Given the description of an element on the screen output the (x, y) to click on. 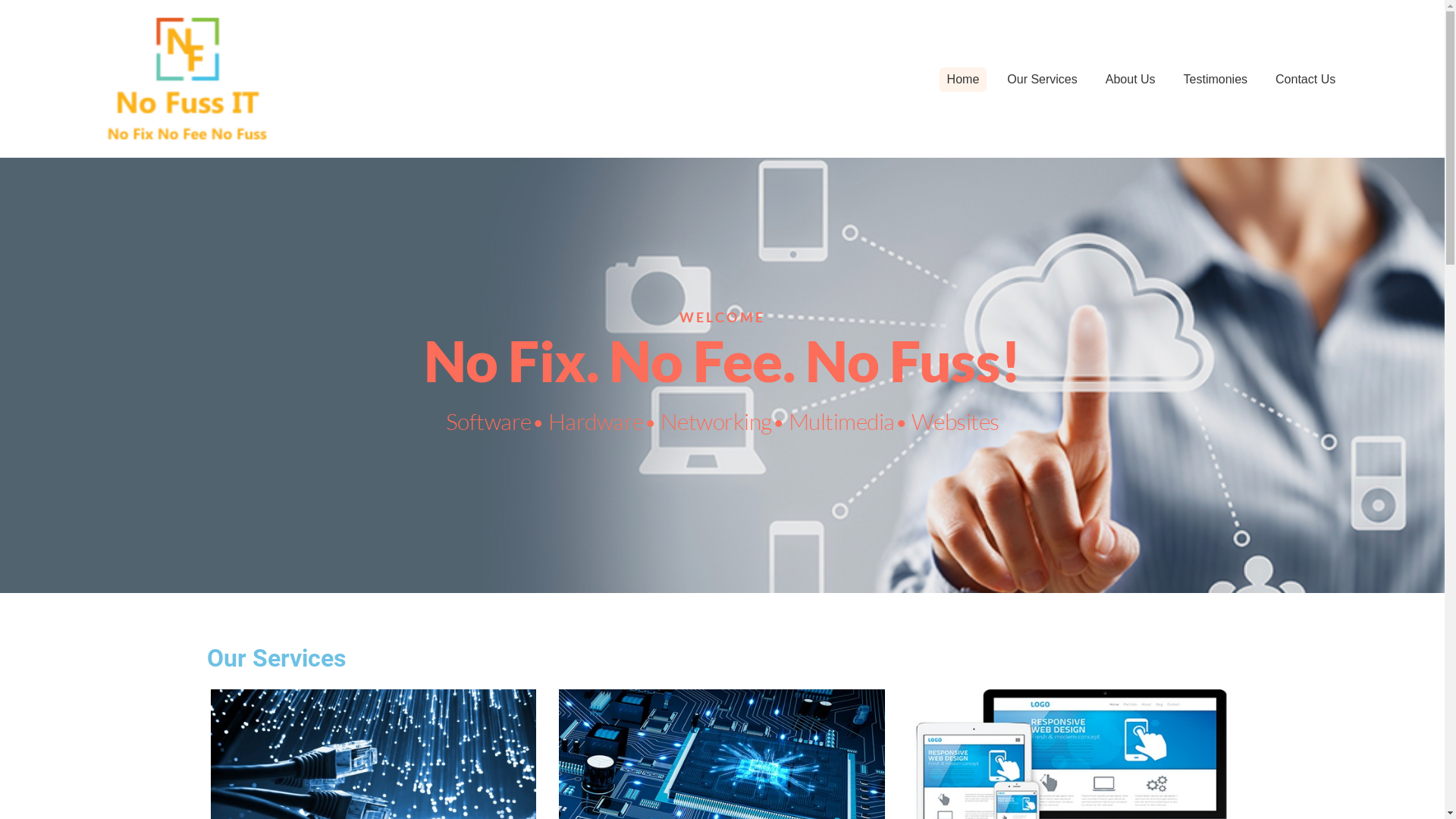
Home Element type: text (963, 79)
Testimonies Element type: text (1215, 79)
Contact Us Element type: text (1305, 79)
About Us Element type: text (1130, 79)
Our Services Element type: text (1041, 79)
